Given the description of an element on the screen output the (x, y) to click on. 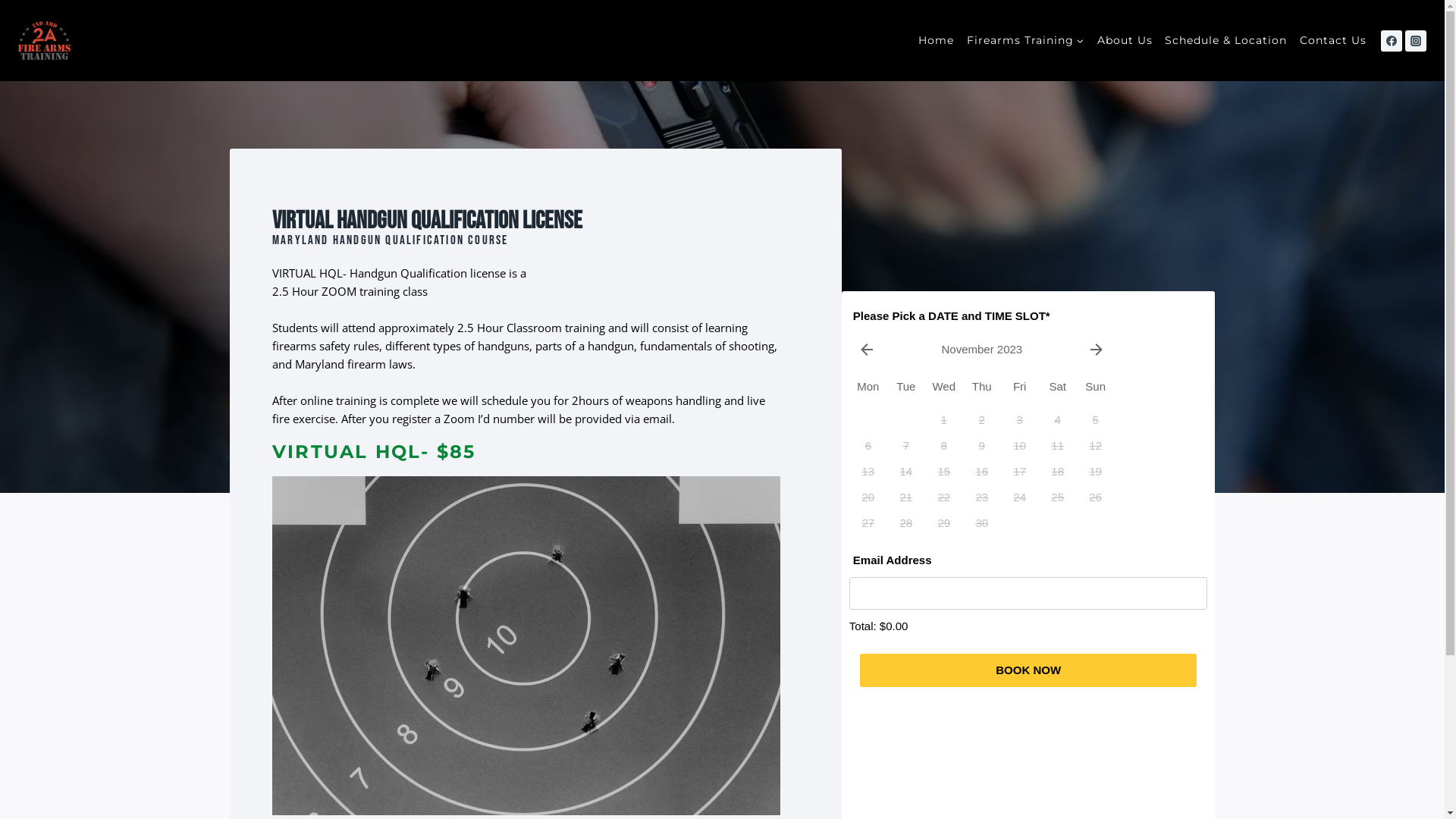
Contact Us Element type: text (1333, 40)
VIRTUAL HANDGUN QUALIFICATION LICENSE 1 Element type: hover (526, 645)
Firearms Training Element type: text (1025, 40)
About Us Element type: text (1124, 40)
BOOK NOW Element type: text (1027, 670)
Home Element type: text (936, 40)
Schedule & Location Element type: text (1225, 40)
